Given the description of an element on the screen output the (x, y) to click on. 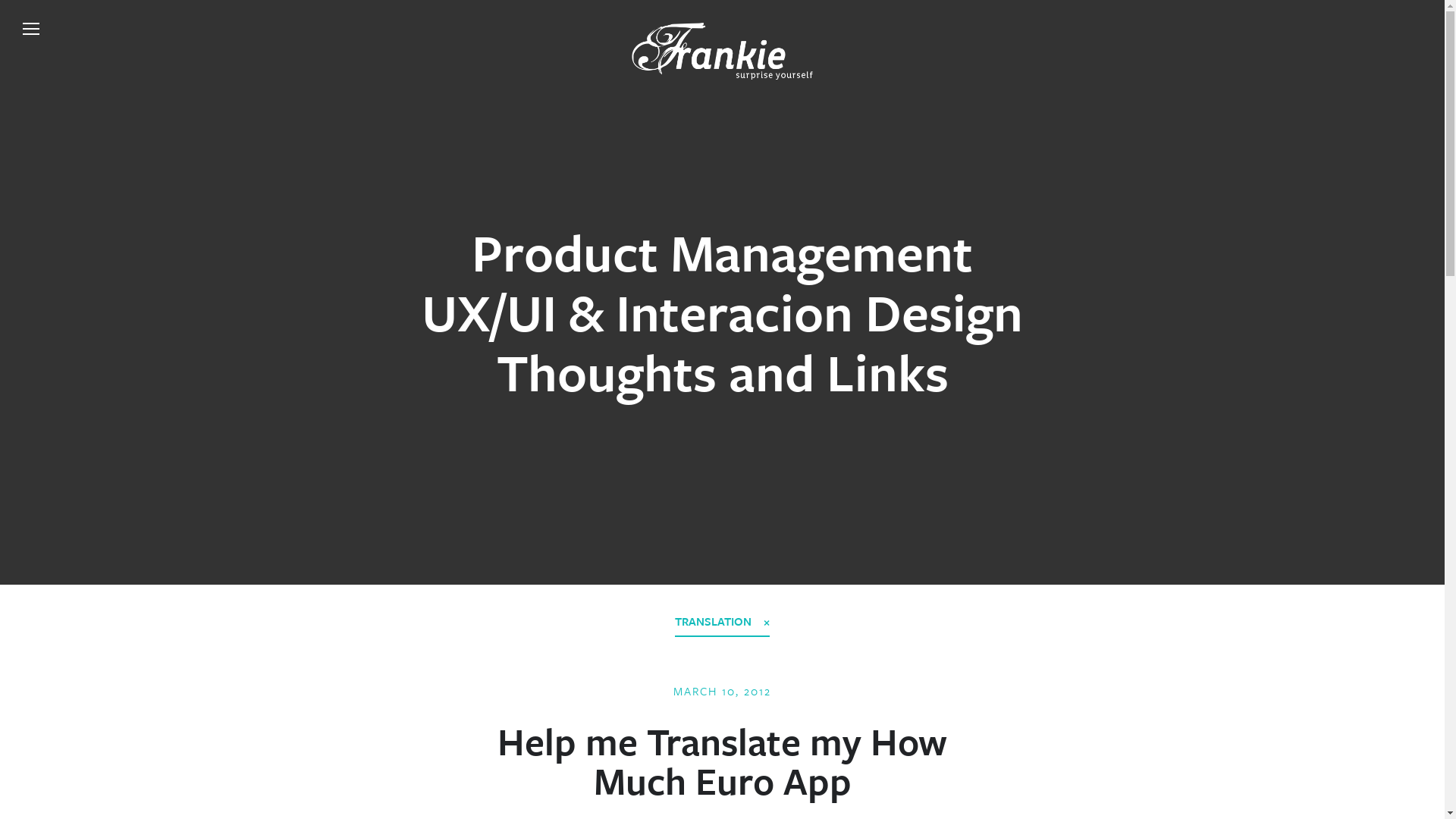
MARCH 10, 2012 Element type: text (722, 690)
TRANSLATION Element type: text (721, 621)
Help me Translate my How Much Euro App Element type: text (722, 760)
